Given the description of an element on the screen output the (x, y) to click on. 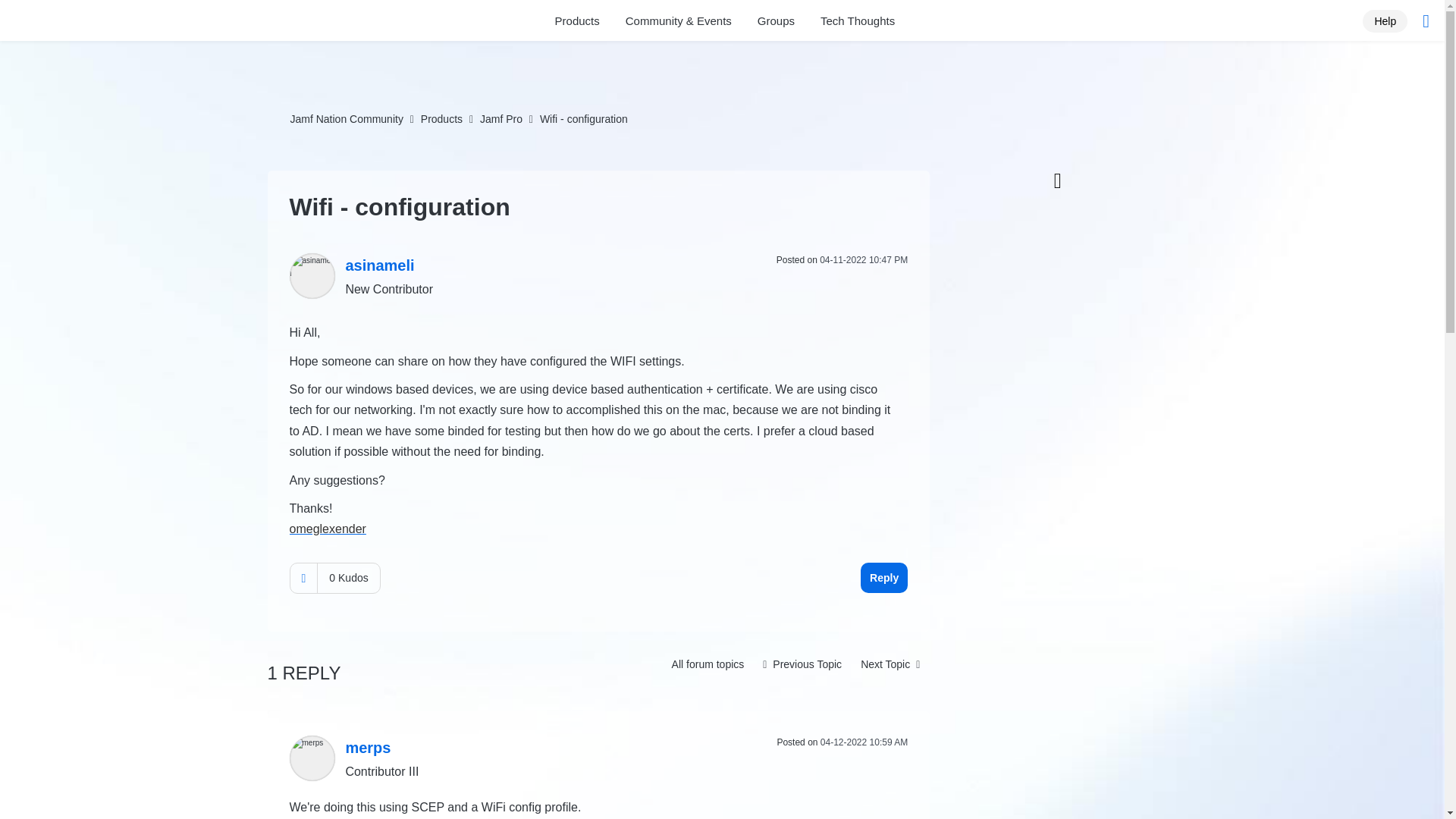
Reply (883, 577)
All forum topics (708, 664)
asinameli (311, 275)
Previous Topic (801, 664)
Jamf Nation Community (103, 22)
Jamf Nation Community (346, 119)
Help (1384, 20)
xender (347, 528)
Groups (776, 21)
Jamf Pro Package Uploads Not Working (890, 664)
